Given the description of an element on the screen output the (x, y) to click on. 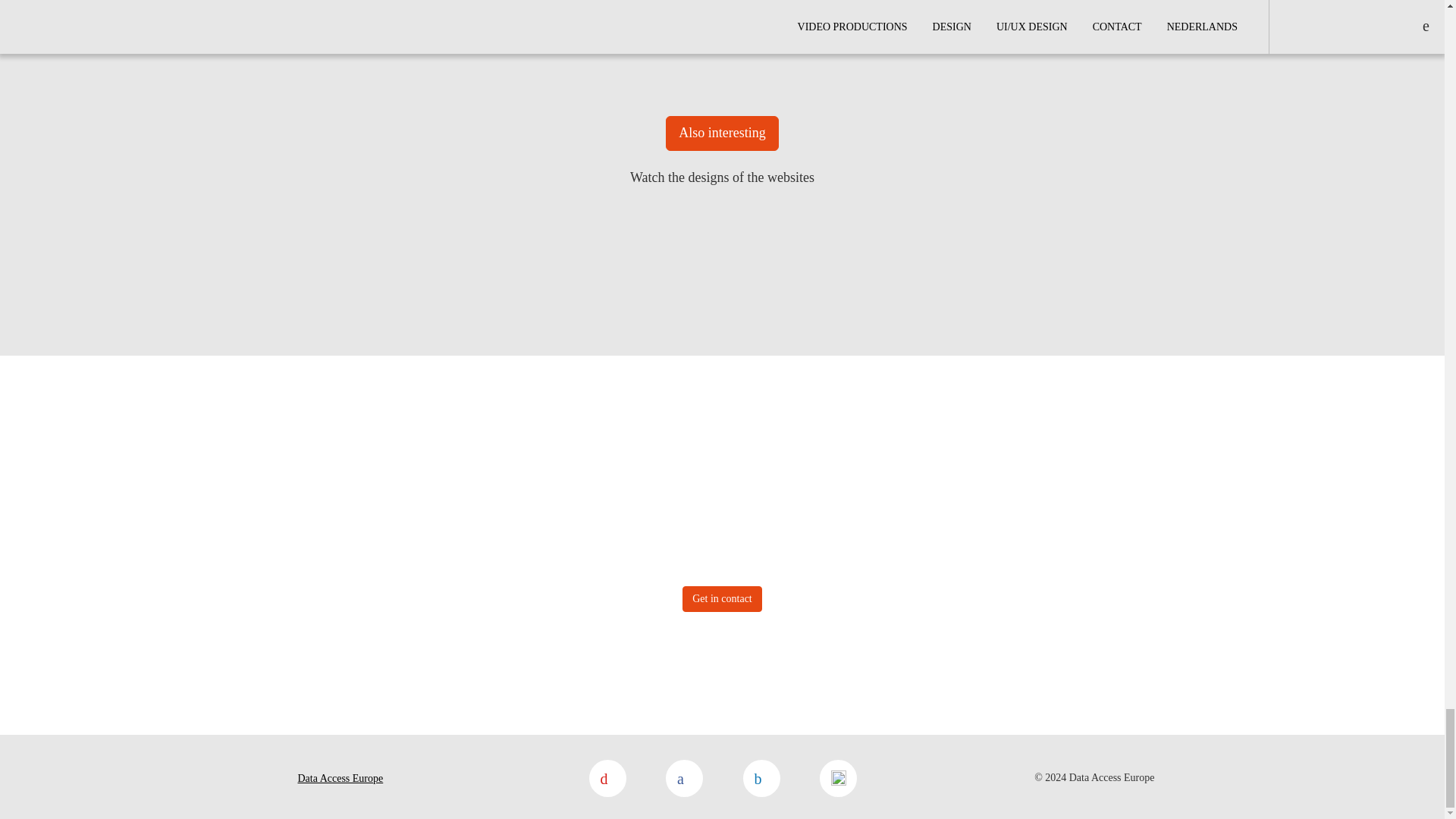
Data Access Europe (339, 778)
Also interesting (721, 133)
Get in contact (721, 598)
